Given the description of an element on the screen output the (x, y) to click on. 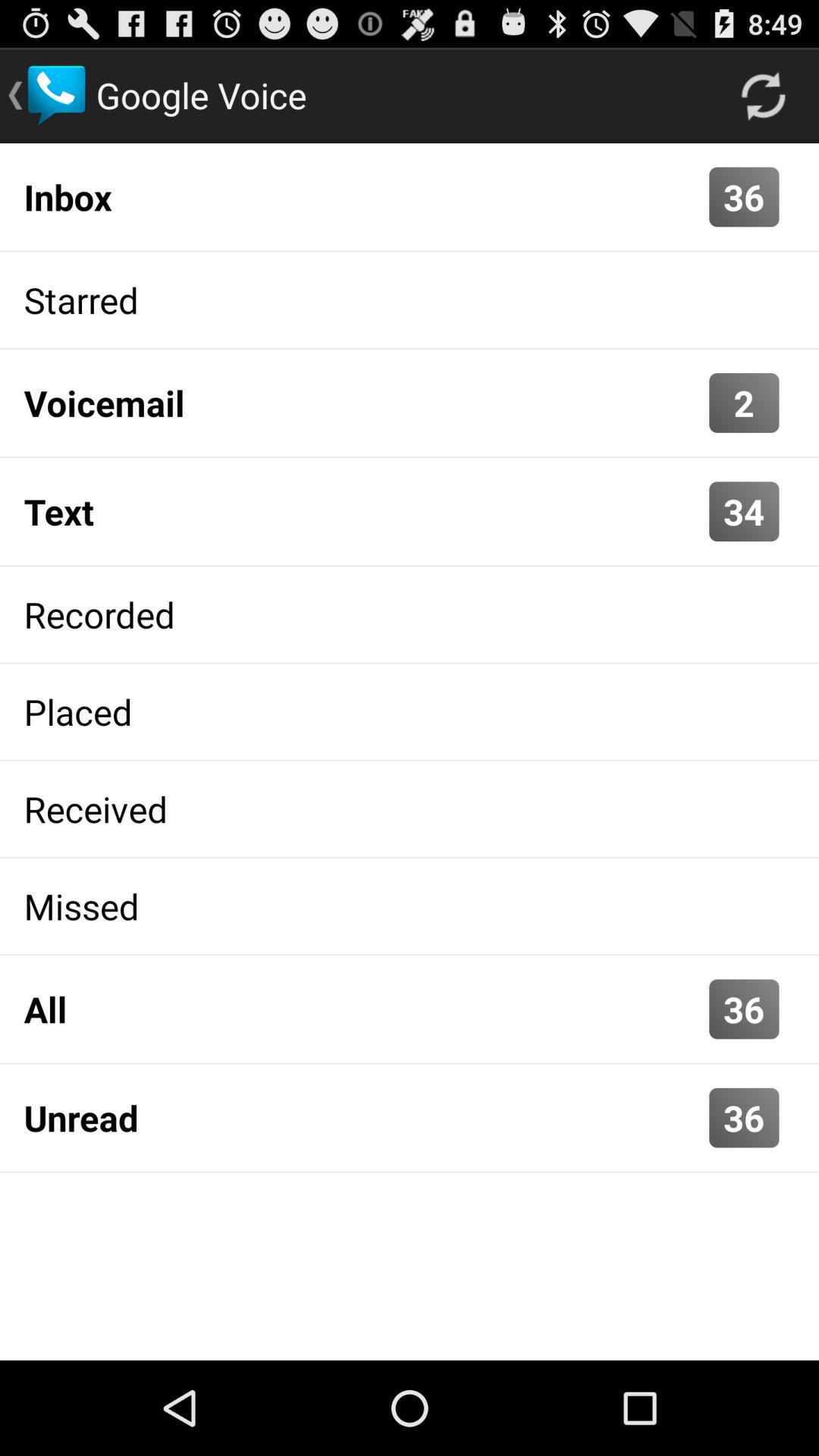
turn off icon next to 34 app (362, 511)
